Given the description of an element on the screen output the (x, y) to click on. 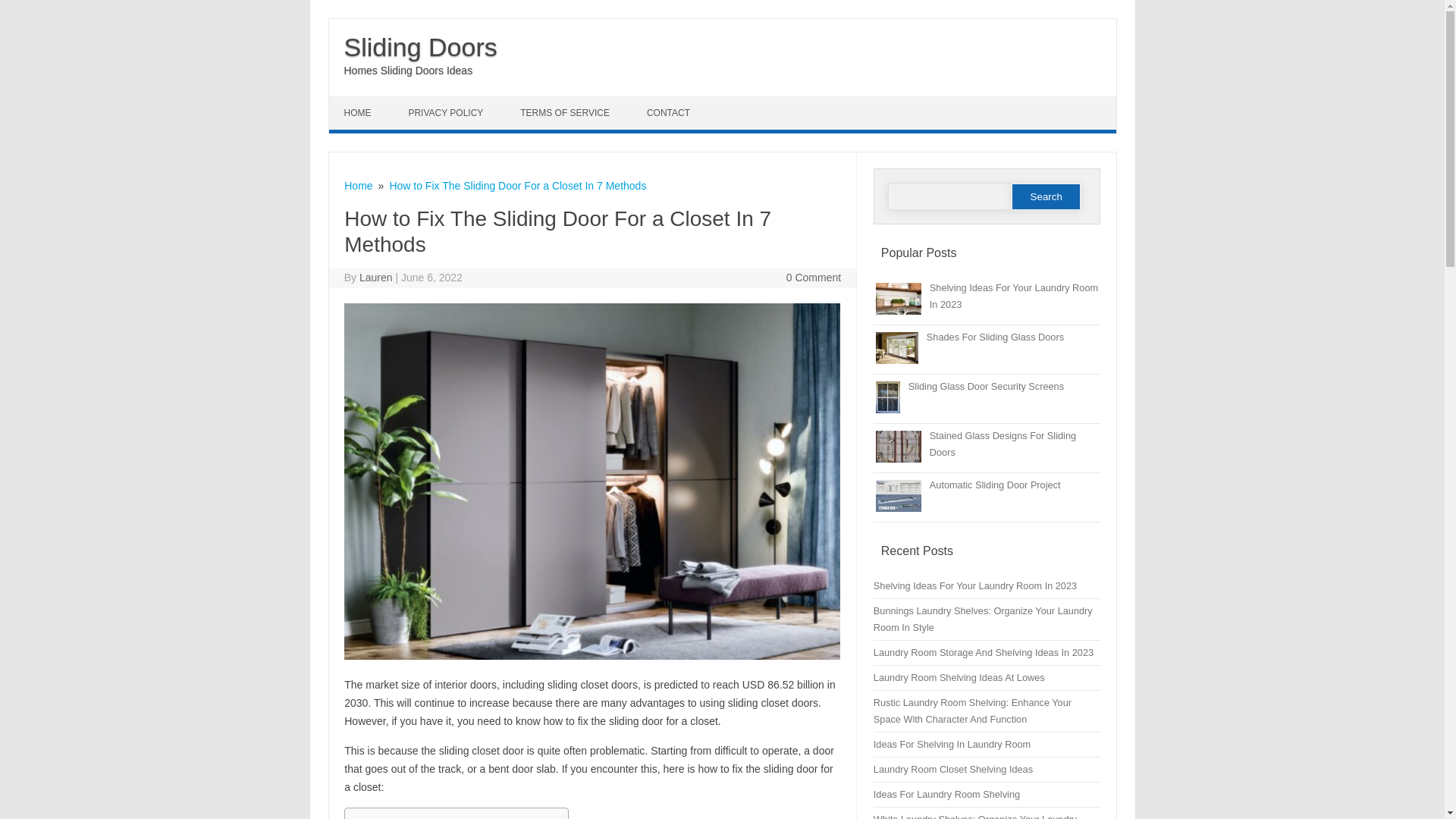
Automatic Sliding Door Project (995, 484)
PRIVACY POLICY (447, 112)
Lauren (376, 277)
Sliding Doors (420, 46)
HOME (359, 112)
0 Comment (813, 277)
Search (1045, 196)
TERMS OF SERVICE (566, 112)
Shades For Sliding Glass Doors (995, 337)
How to Fix The Sliding Door For a Closet In 7 Methods (517, 185)
Skip to content (363, 101)
CONTACT (670, 112)
Skip to content (363, 101)
Sliding Doors (420, 46)
Shelving Ideas For Your Laundry Room In 2023 (1013, 295)
